Given the description of an element on the screen output the (x, y) to click on. 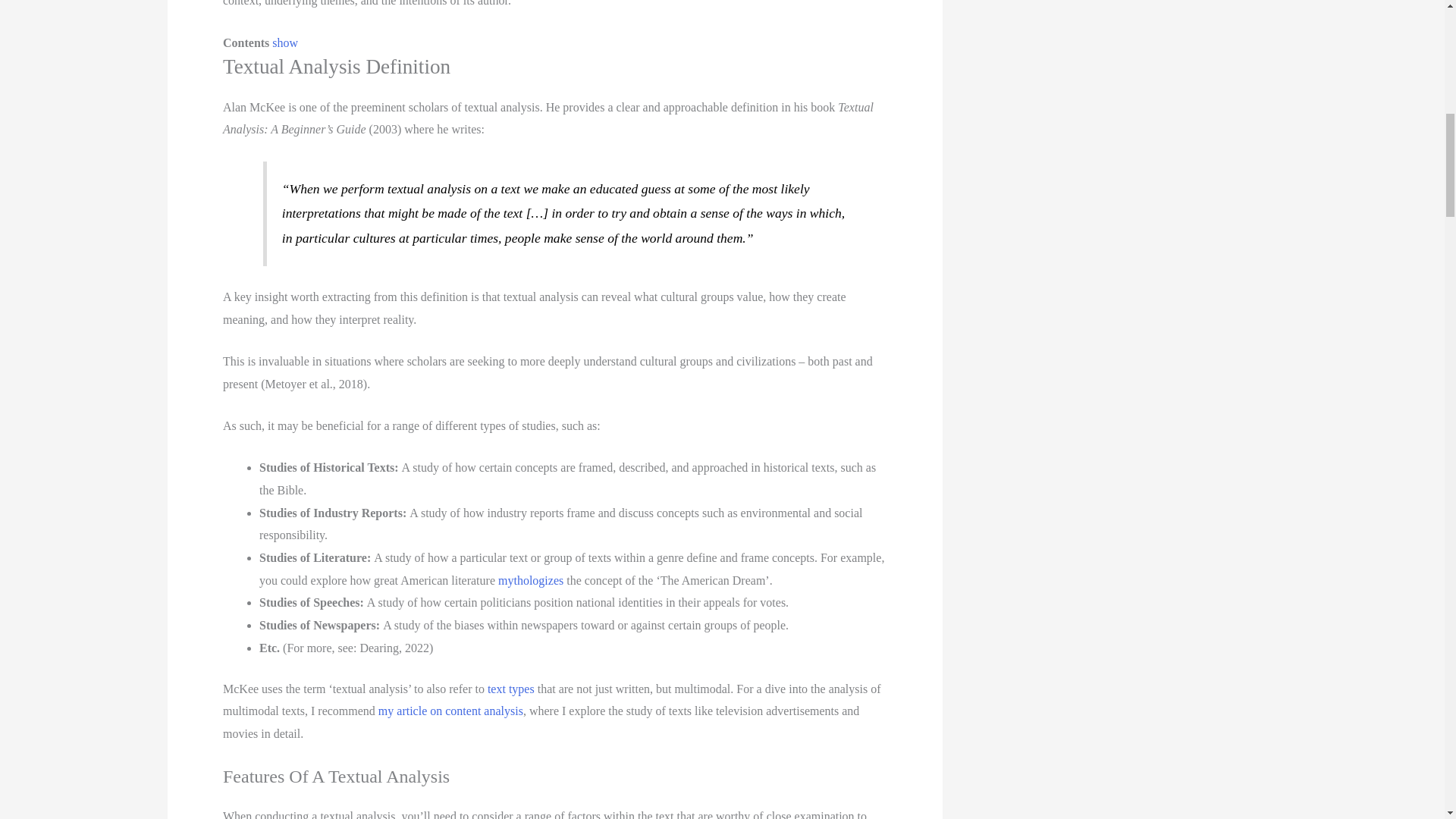
show (285, 42)
